Given the description of an element on the screen output the (x, y) to click on. 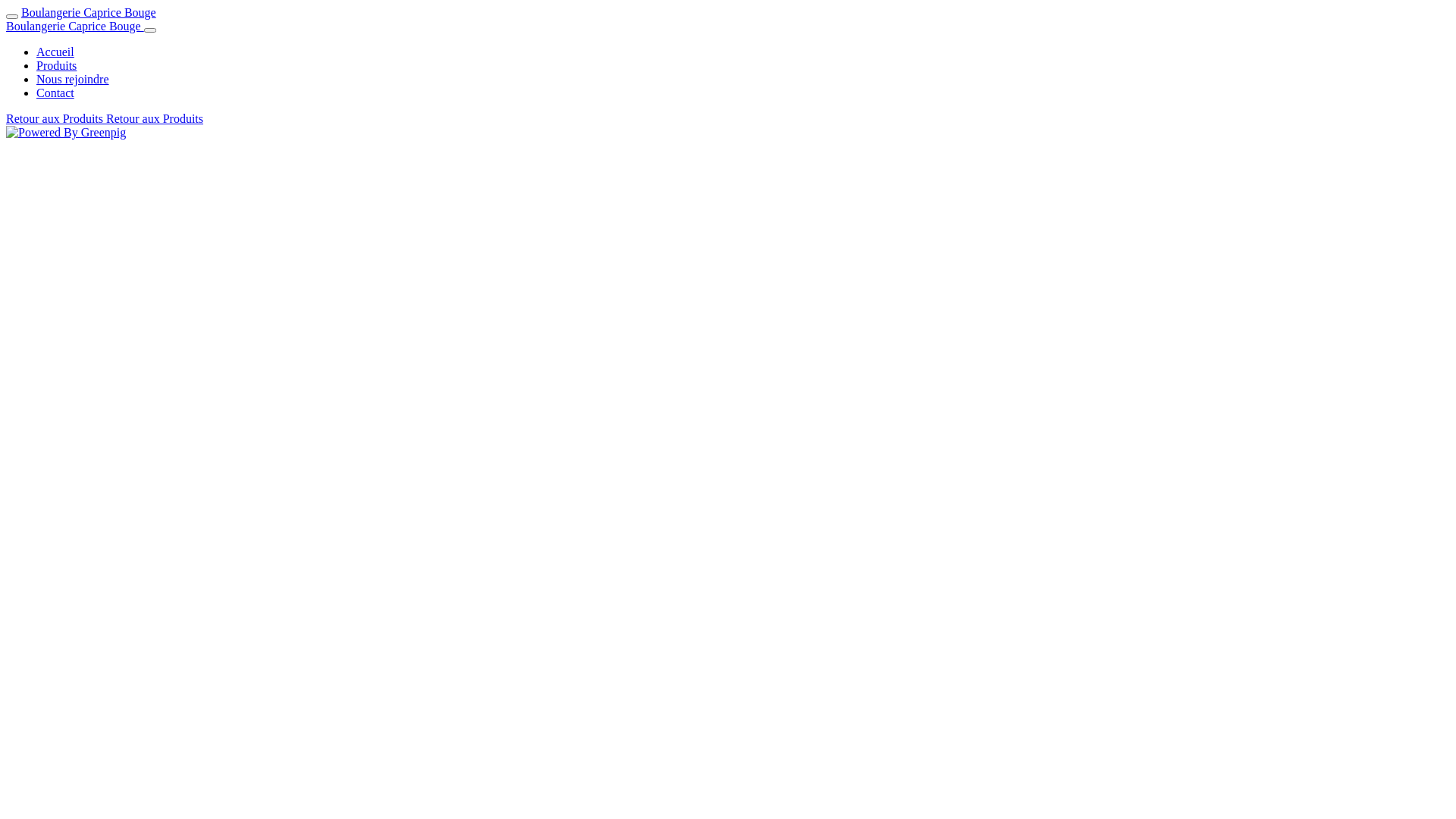
Boulangerie Caprice Bouge Element type: text (75, 25)
Contact Element type: text (55, 92)
Accueil Element type: text (55, 51)
Produits Element type: text (56, 65)
Nous rejoindre Element type: text (72, 78)
Retour aux Produits Element type: text (56, 118)
Boulangerie Caprice Bouge Element type: text (88, 12)
Retour aux Produits Element type: text (154, 118)
